Given the description of an element on the screen output the (x, y) to click on. 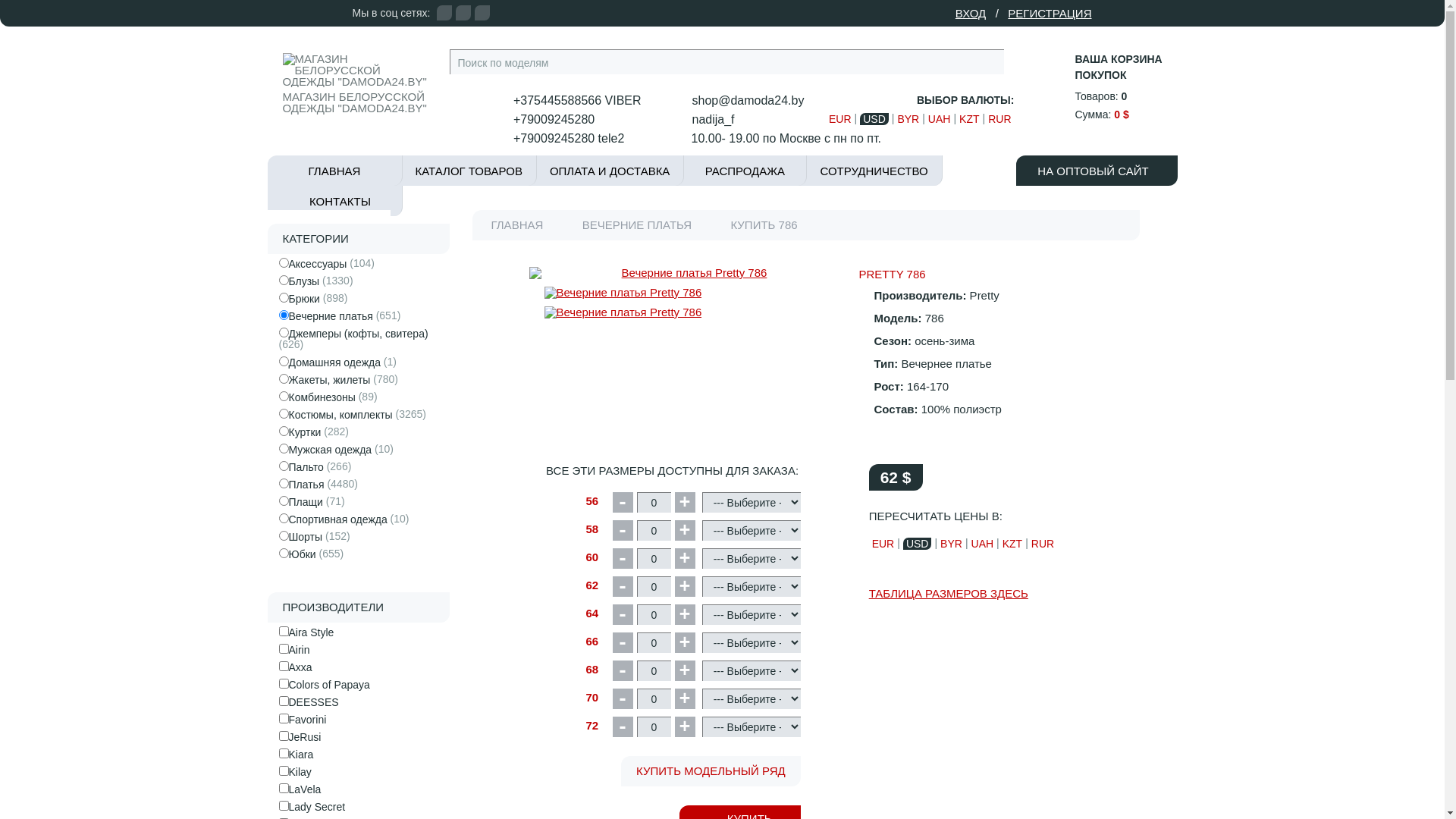
+ Element type: text (684, 614)
UAH Element type: text (982, 543)
- Element type: text (622, 502)
- Element type: text (622, 698)
+ Element type: text (684, 558)
+ Element type: text (684, 642)
EUR Element type: text (883, 543)
+ Element type: text (684, 530)
KZT Element type: text (969, 118)
UAH Element type: text (939, 118)
BYR Element type: text (908, 118)
+ Element type: text (684, 670)
RUR Element type: text (999, 118)
shop@damoda24.by Element type: text (739, 100)
+ Element type: text (684, 502)
- Element type: text (622, 614)
- Element type: text (622, 558)
- Element type: text (622, 670)
+ Element type: text (684, 586)
- Element type: text (622, 726)
+ Element type: text (684, 698)
- Element type: text (622, 586)
- Element type: text (622, 530)
- Element type: text (622, 642)
EUR Element type: text (839, 118)
RUR Element type: text (1042, 543)
+ Element type: text (684, 726)
KZT Element type: text (1012, 543)
BYR Element type: text (951, 543)
nadija_f Element type: text (705, 119)
